Given the description of an element on the screen output the (x, y) to click on. 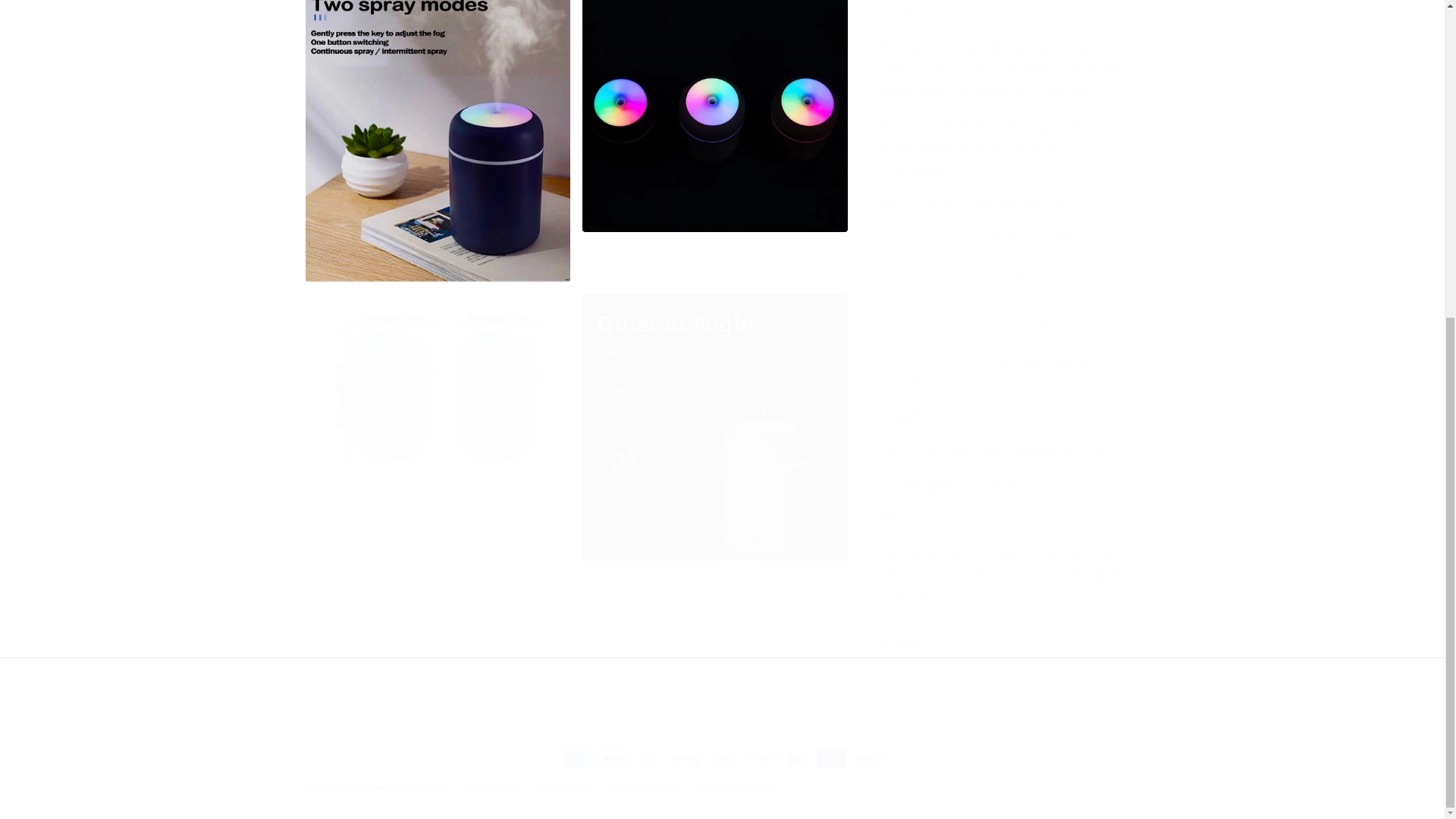
Privacy policy (566, 786)
Clink (352, 786)
Open media 3 in modal (714, 141)
Refund policy (492, 786)
Powered by Shopify (406, 786)
Open media 2 in modal (437, 141)
Contact information (735, 786)
Terms of service (644, 786)
Open media 4 in modal (437, 426)
Open media 5 in modal (714, 426)
